Given the description of an element on the screen output the (x, y) to click on. 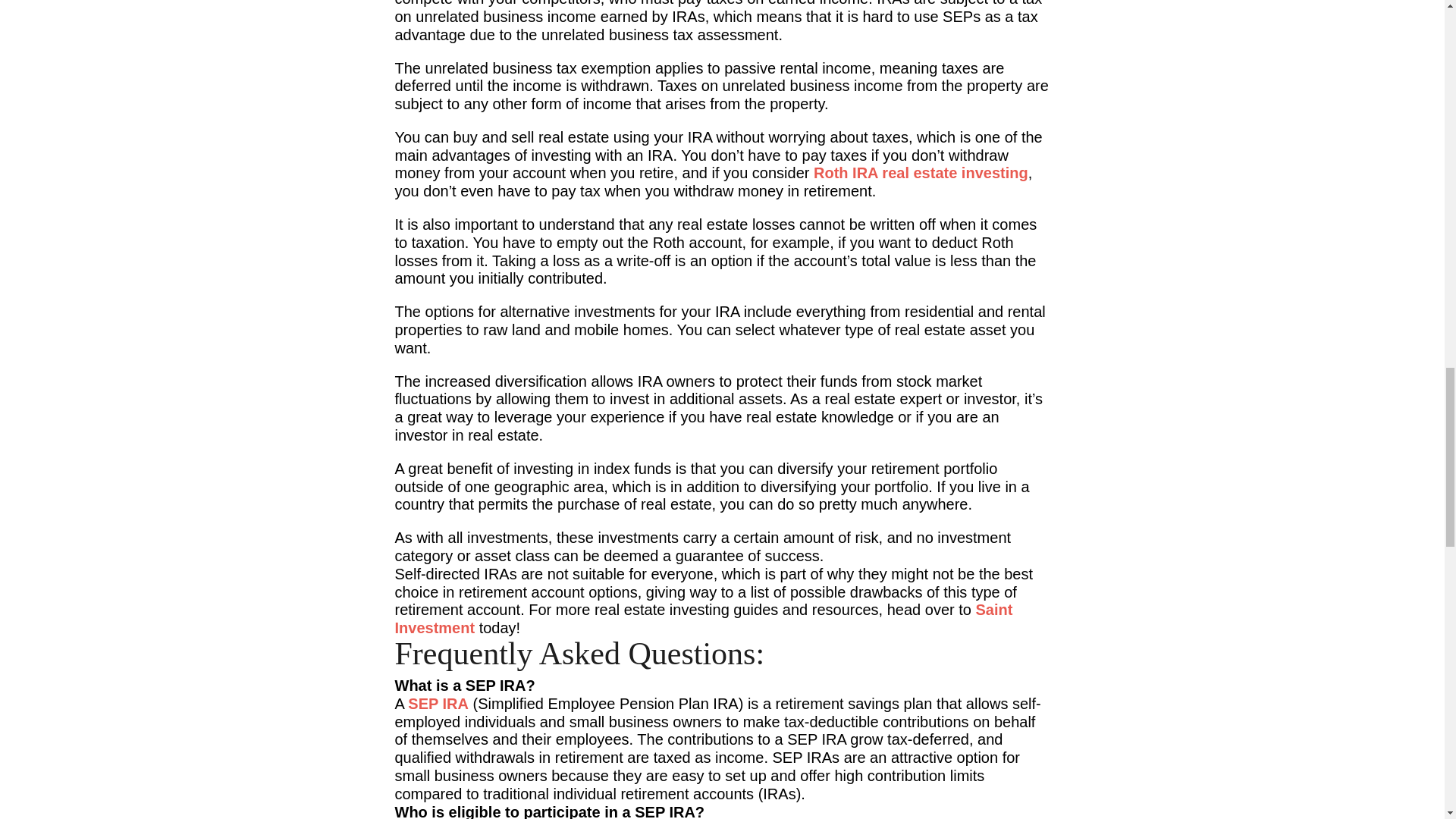
Saint Investment (702, 618)
Roth IRA real estate investing (920, 172)
SEP IRA (437, 703)
